Given the description of an element on the screen output the (x, y) to click on. 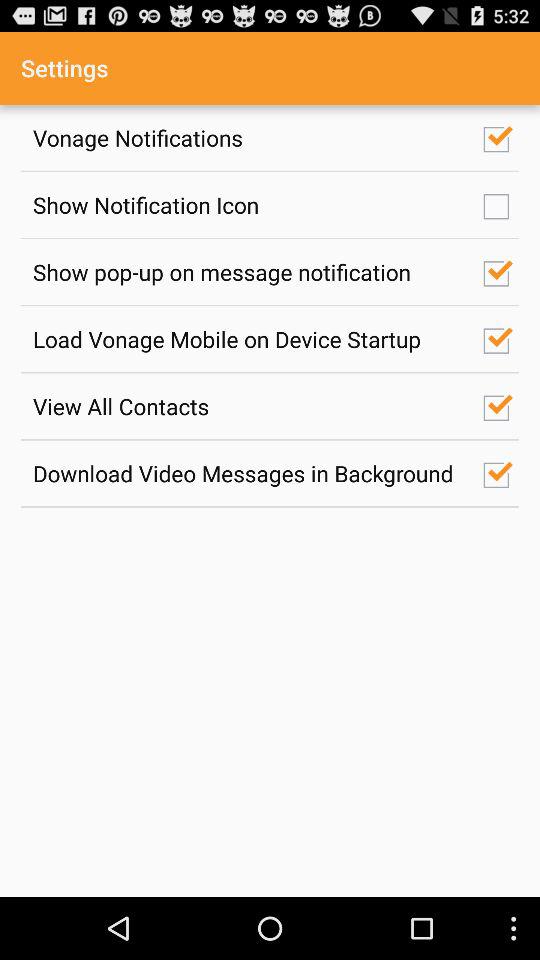
press the item above the show notification icon item (247, 137)
